Given the description of an element on the screen output the (x, y) to click on. 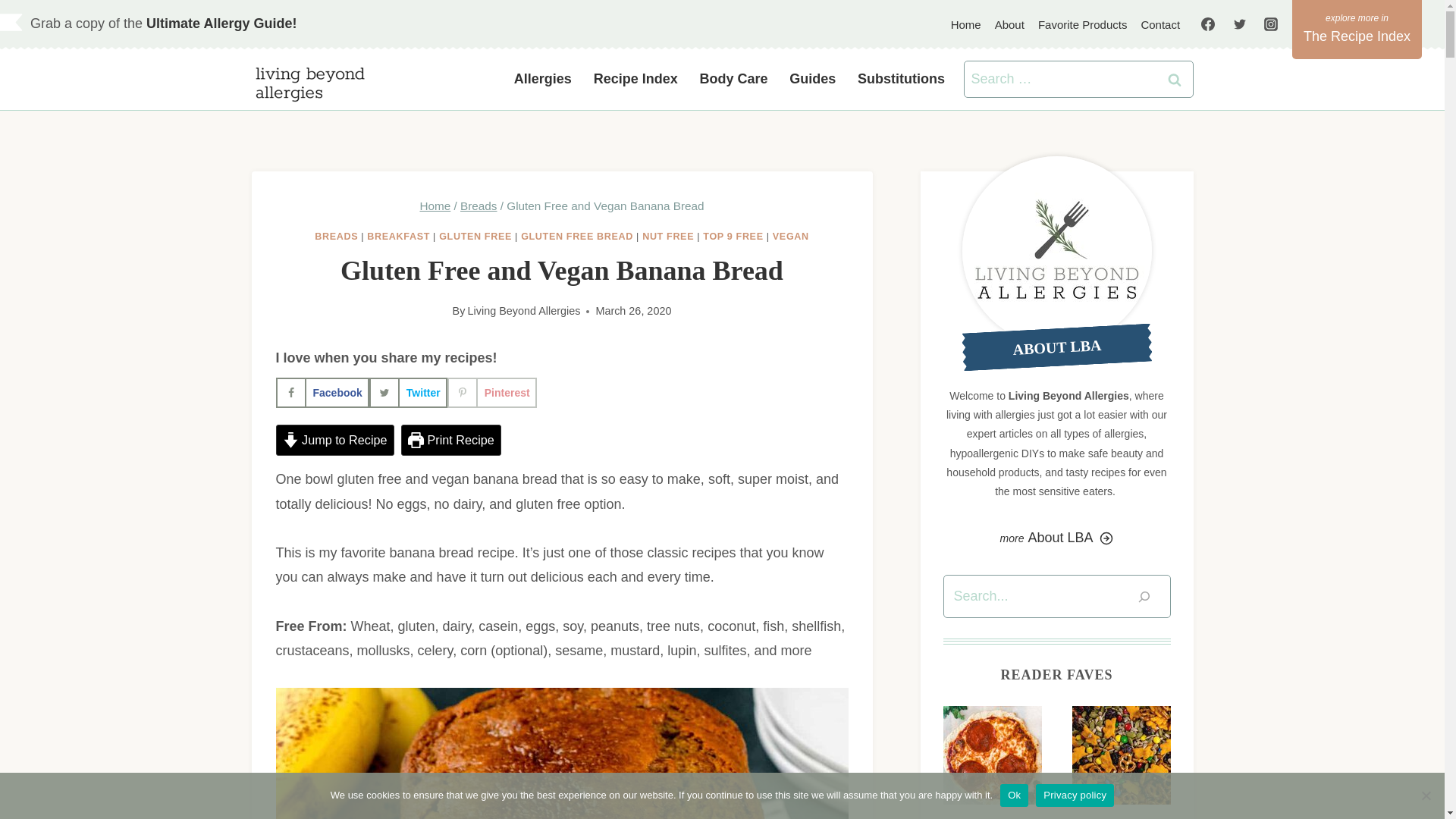
Share on Twitter (407, 392)
BREAKFAST (397, 235)
Ultimate Allergy Guide! (222, 23)
Save to Pinterest (491, 392)
Contact (1160, 24)
Recipe Index (635, 78)
Allergies (542, 78)
Substitutions (901, 78)
The Recipe Index (1357, 29)
Share on Facebook (322, 392)
VEGAN (791, 235)
Search (1174, 78)
Home (434, 205)
Home (965, 24)
Pinterest (491, 392)
